Given the description of an element on the screen output the (x, y) to click on. 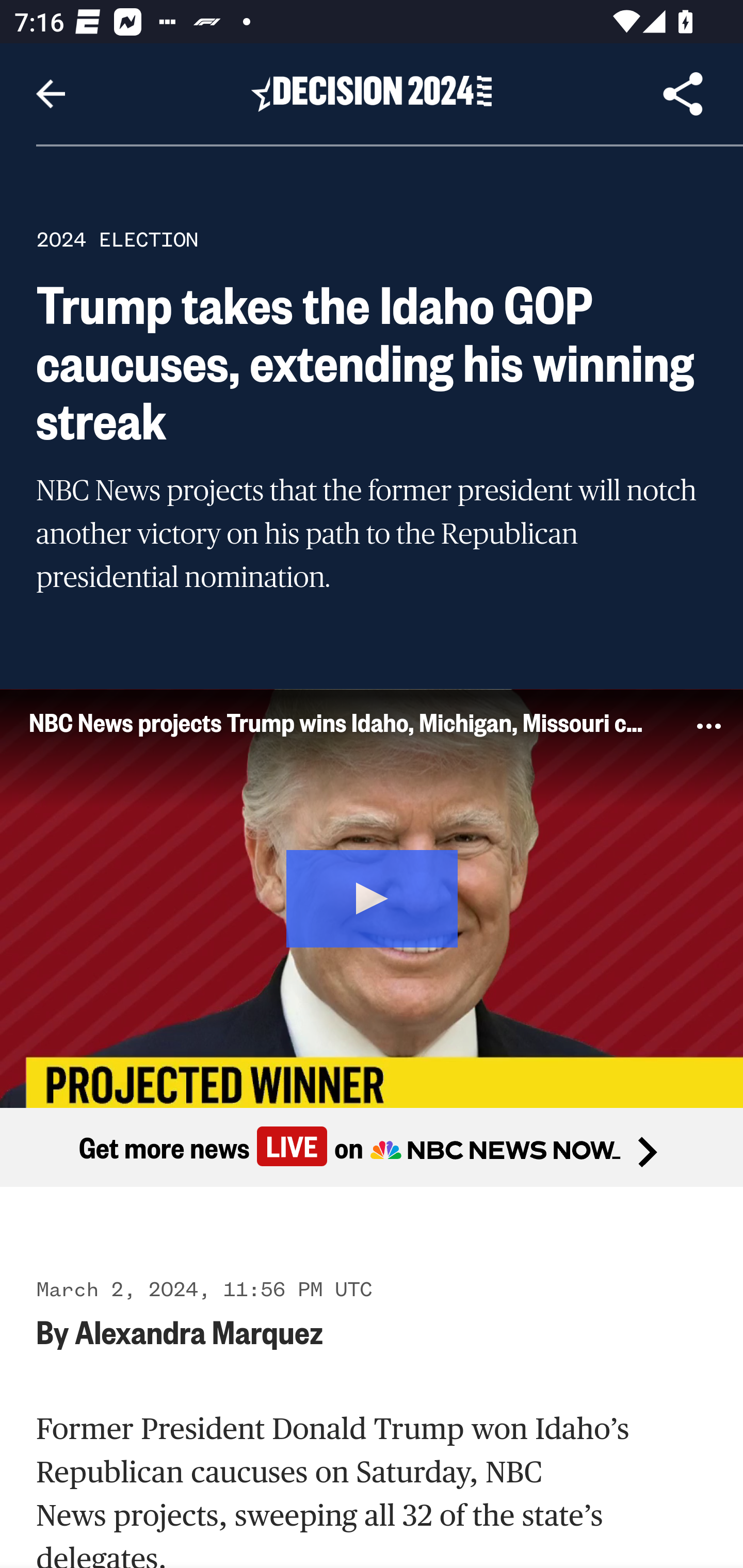
Navigate up (50, 93)
Share Article, button (683, 94)
Header, Decision 2024 (371, 93)
2024 ELECTION (117, 239)
Video Player Unable to play media. Play   (371, 897)
Play (372, 896)
Get more news Live on Get more news Live on (371, 1147)
